Given the description of an element on the screen output the (x, y) to click on. 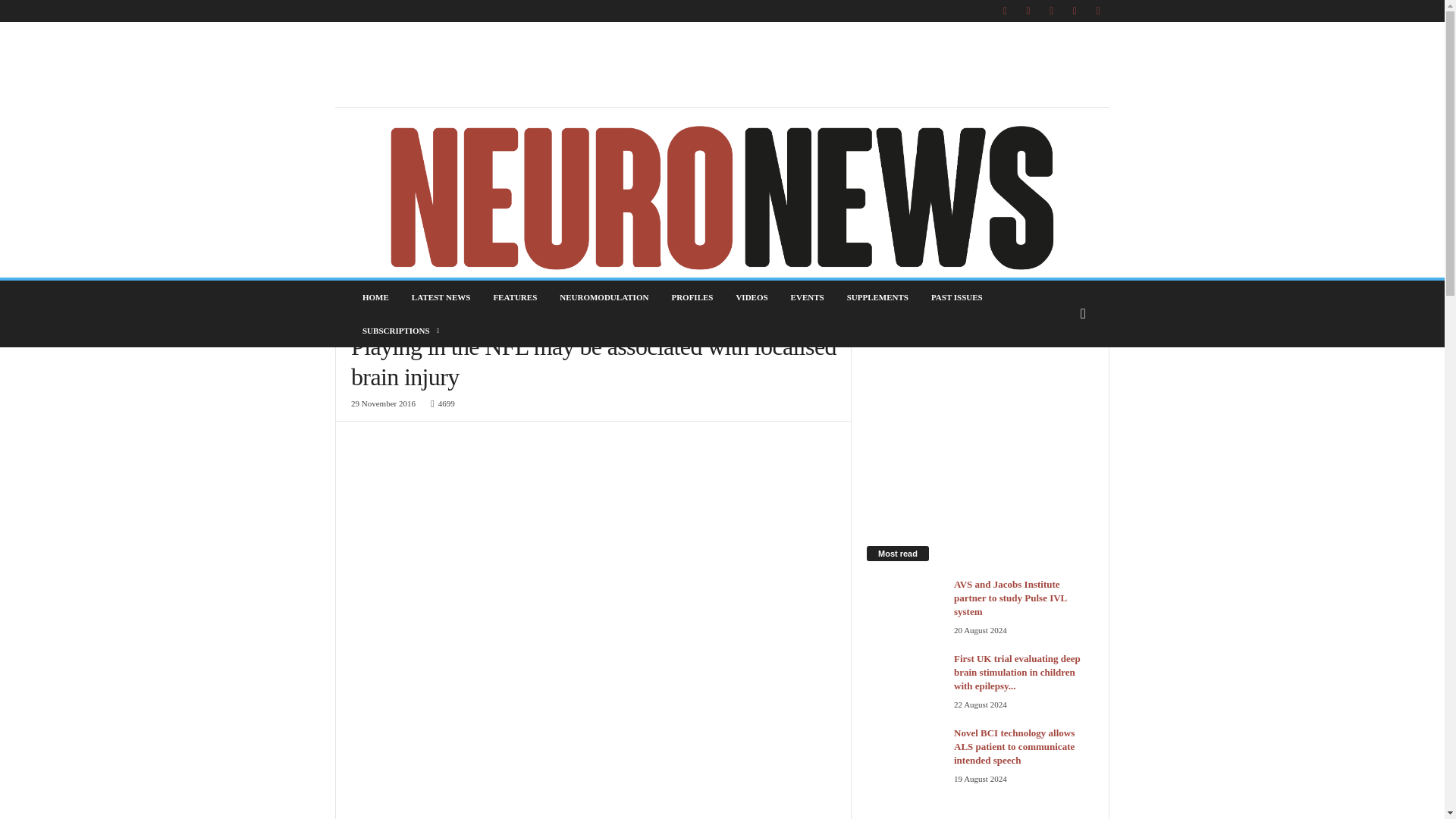
FEATURES (514, 296)
PROFILES (691, 296)
LATEST NEWS (440, 296)
NeuroNews (722, 196)
PAST ISSUES (957, 296)
VIDEOS (750, 296)
EVENTS (806, 296)
SUPPLEMENTS (877, 296)
HOME (375, 296)
SUBSCRIPTIONS (401, 330)
